Given the description of an element on the screen output the (x, y) to click on. 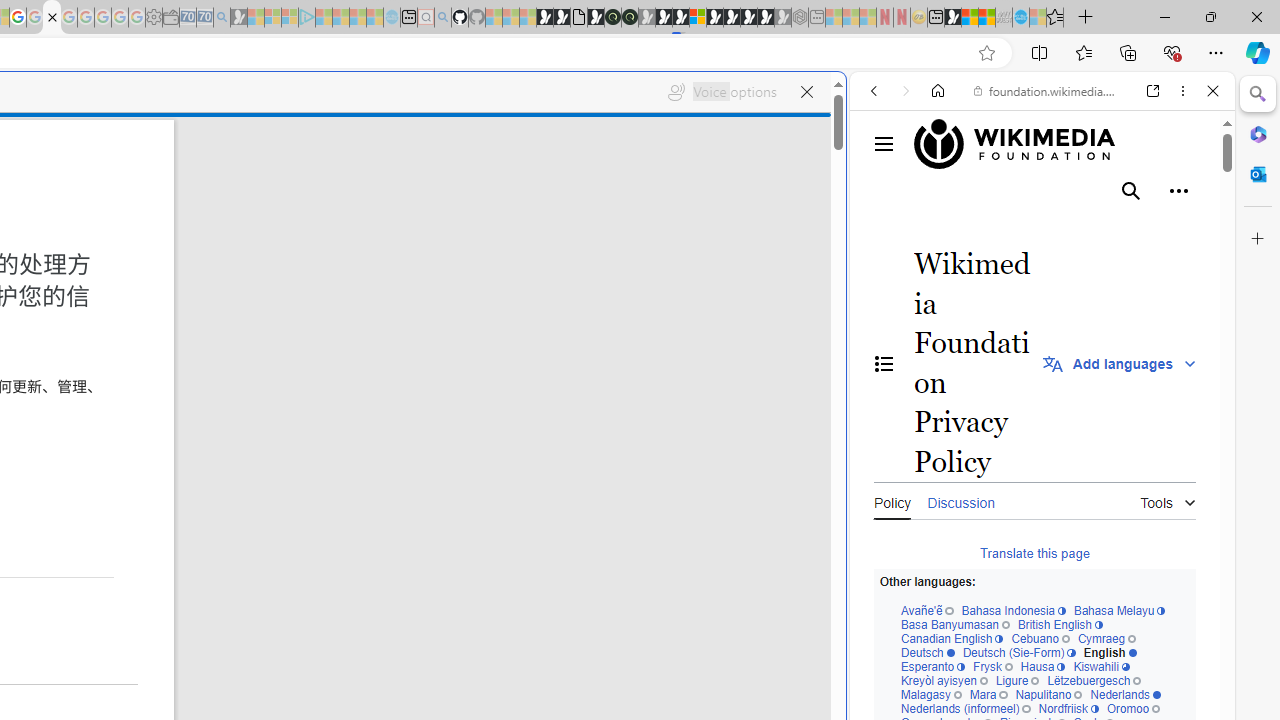
Play Zoo Boom in your browser | Games from Microsoft Start (561, 17)
British English (1060, 624)
Settings - Sleeping (153, 17)
Policy (892, 500)
Nederlands (informeel) (964, 709)
Nederlands (informeel) (964, 709)
Policy (892, 500)
Deutsch (926, 652)
